Given the description of an element on the screen output the (x, y) to click on. 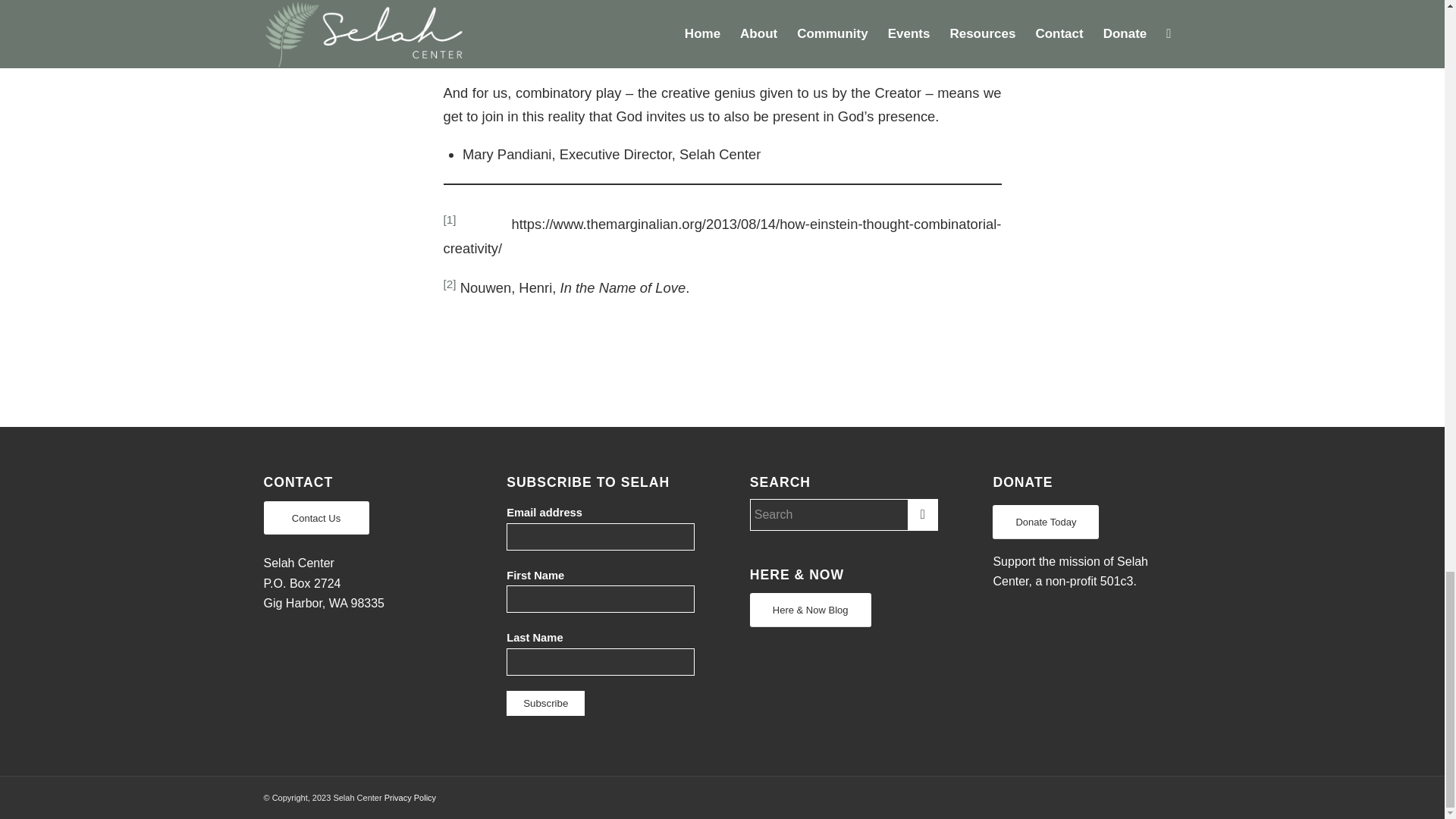
Subscribe (545, 703)
Subscribe (545, 703)
Donate Today (1045, 521)
Privacy Policy (409, 797)
Donate Today (1045, 521)
Contact Us (316, 518)
